Given the description of an element on the screen output the (x, y) to click on. 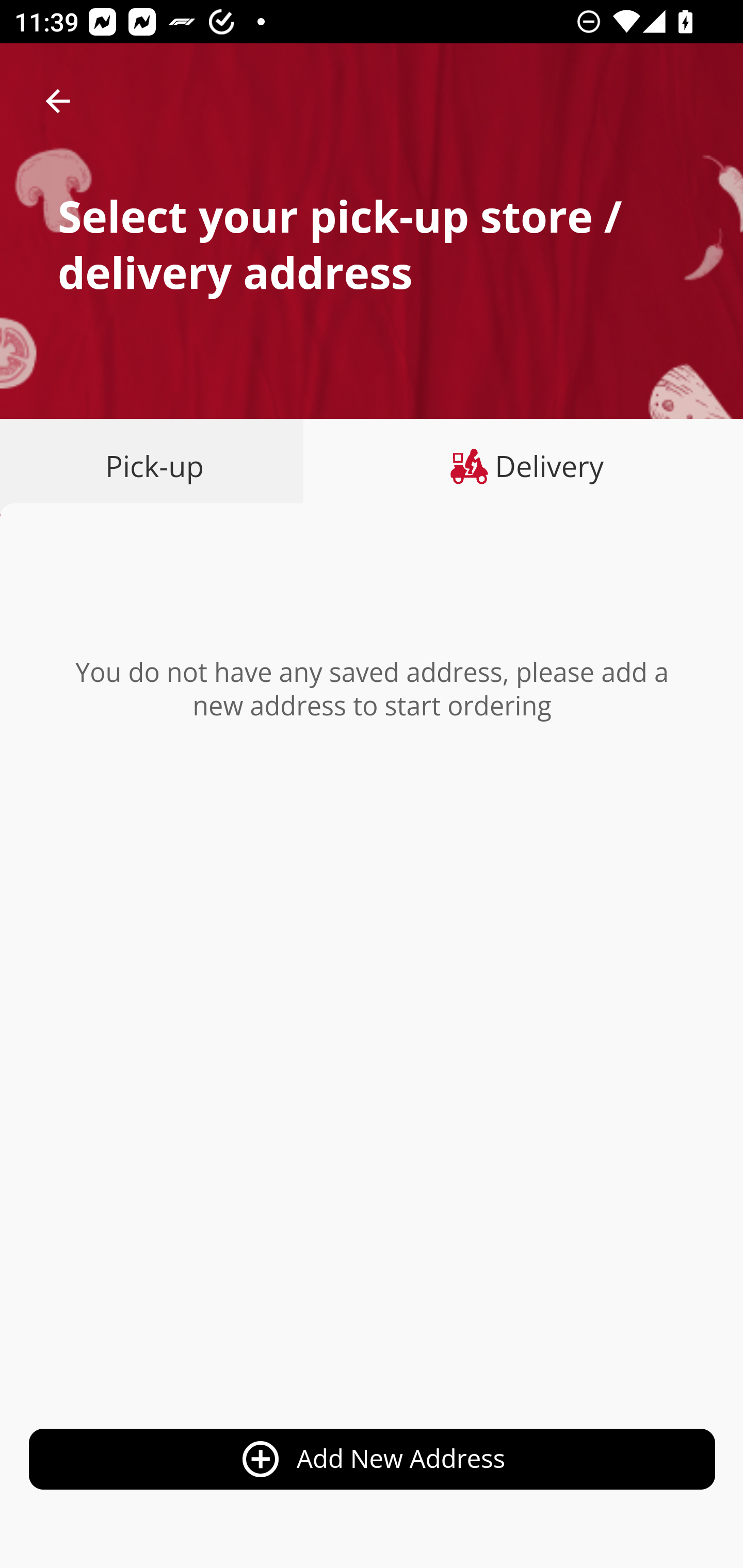
arrow_back (58, 100)
prev next Pick-up Delivery (371, 467)
Delivery (523, 466)
add_circle_outline Add New Address (372, 1459)
